Given the description of an element on the screen output the (x, y) to click on. 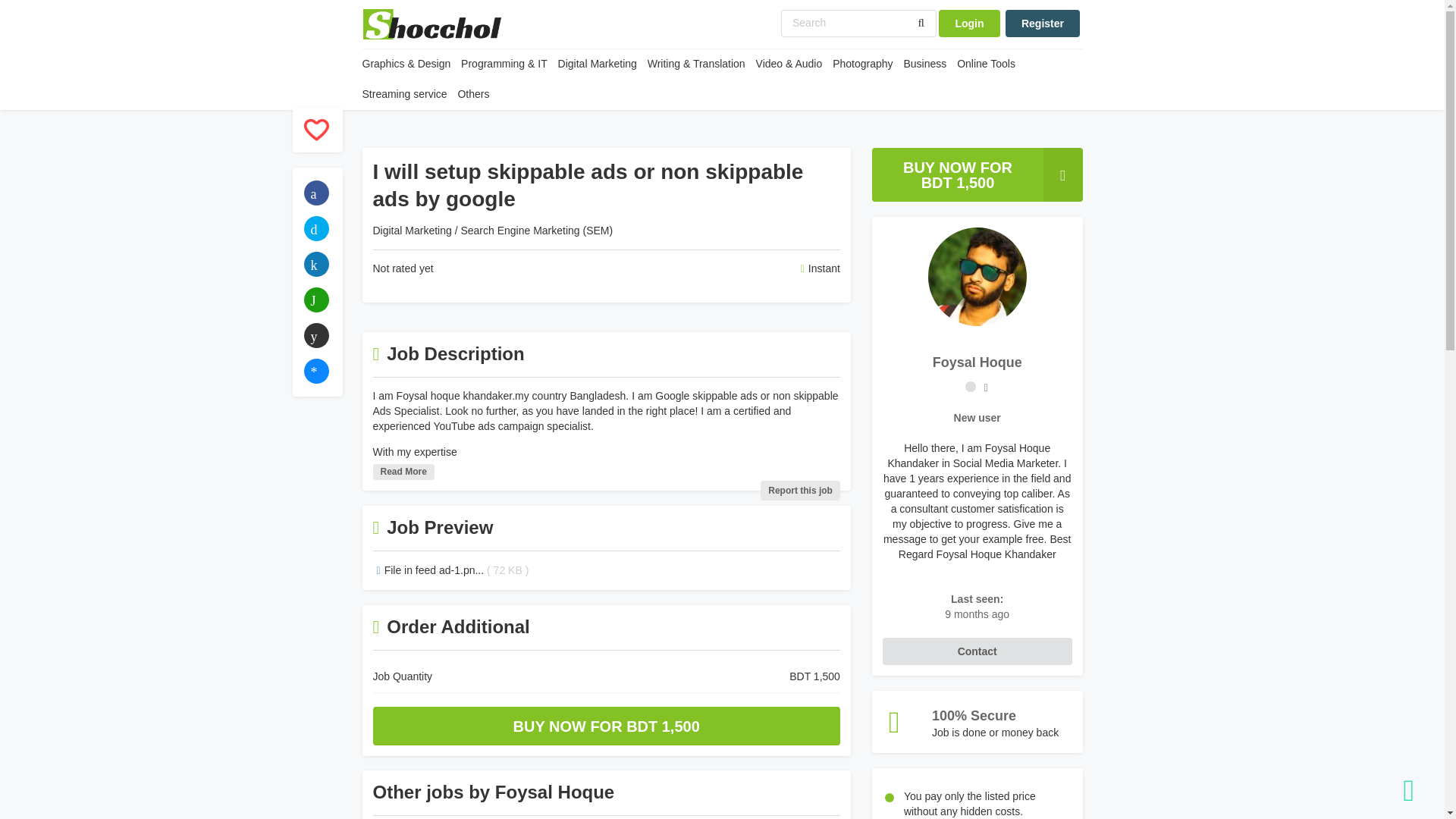
Share on Facebook (315, 192)
Share on LinkedIn (315, 263)
Share on WhatsApp (315, 299)
Share on Twitter (315, 228)
Share on Facebook Messenger (315, 371)
Share on Reddit (315, 335)
